Given the description of an element on the screen output the (x, y) to click on. 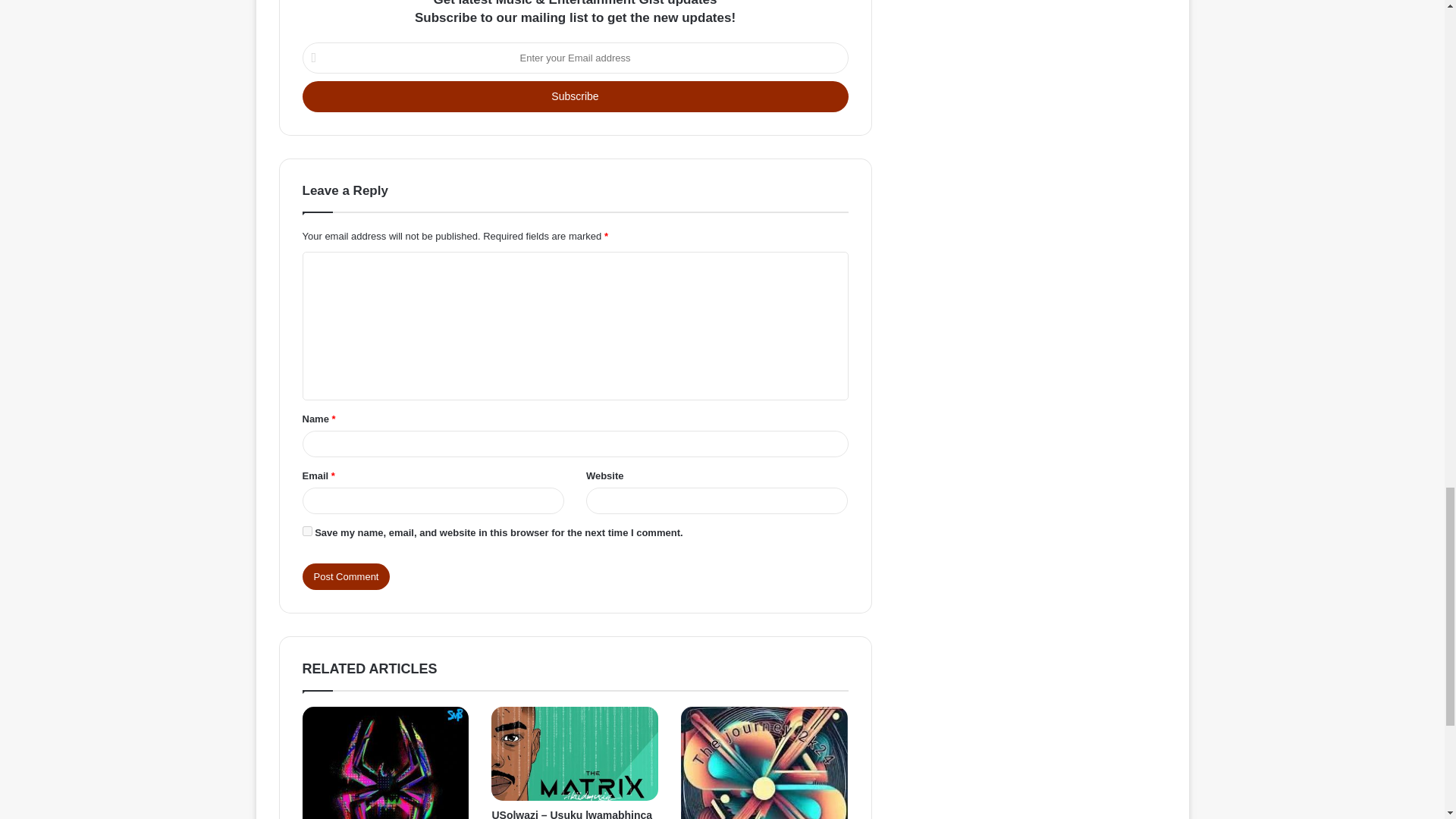
Post Comment (345, 576)
yes (306, 531)
Subscribe (574, 96)
